Given the description of an element on the screen output the (x, y) to click on. 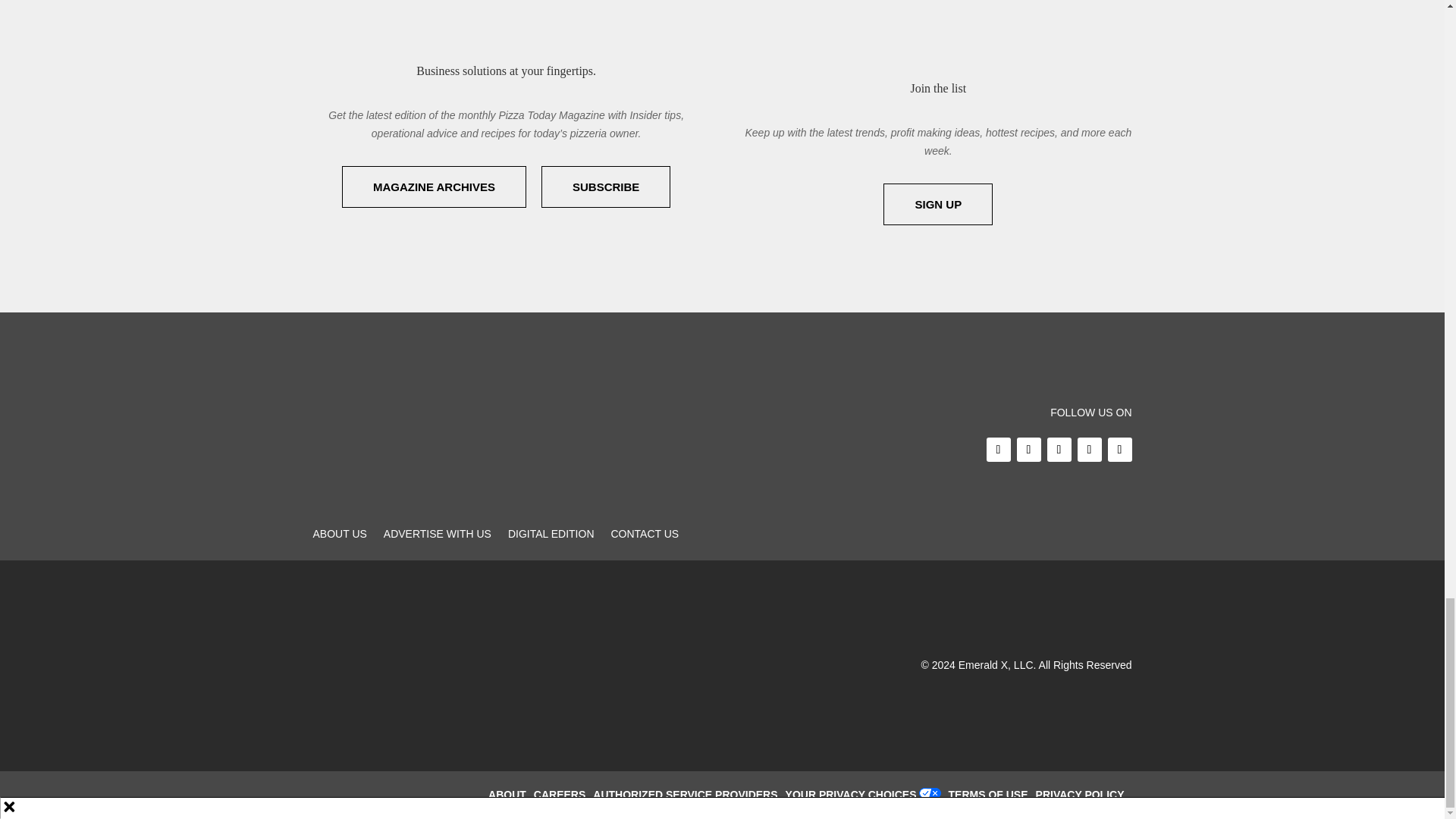
your-privacy-choices (855, 794)
Follow on Instagram (1058, 449)
Follow on Youtube (1118, 449)
Follow on LinkedIn (1088, 449)
Follow on Facebook (997, 449)
terms-of-use (992, 794)
careers (563, 794)
about (510, 794)
authorized-service-providers (688, 794)
Follow on X (1028, 449)
